Given the description of an element on the screen output the (x, y) to click on. 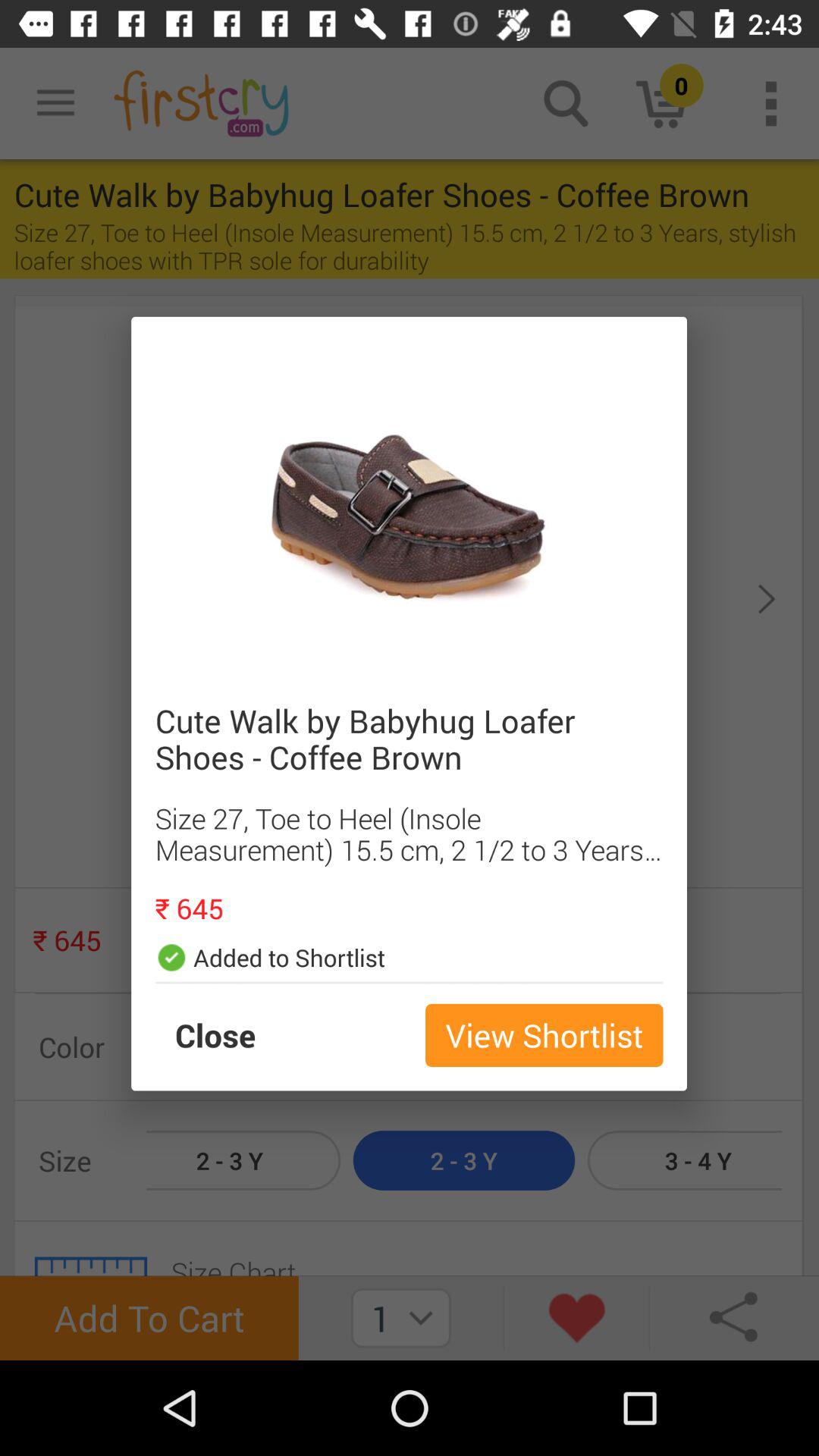
select the view shortlist (544, 1034)
